Given the description of an element on the screen output the (x, y) to click on. 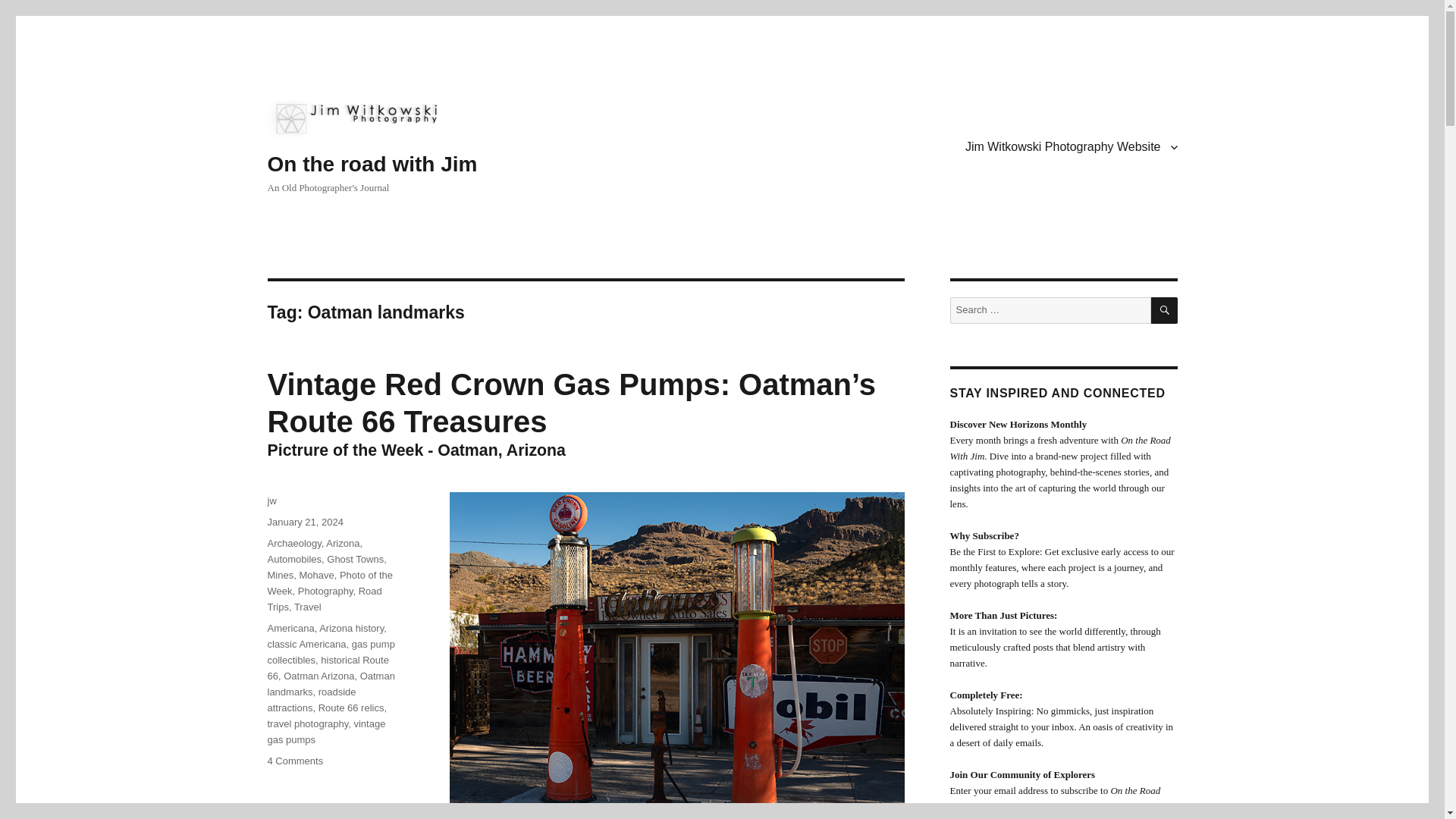
vintage gas pumps (325, 731)
Americana (290, 627)
SEARCH (1164, 310)
Road Trips (323, 598)
Jim Witkowski Photography Website (1071, 146)
Arizona history (351, 627)
Oatman Arizona (318, 675)
Mohave (315, 574)
Mines (280, 574)
Photo of the Week (329, 583)
roadside attractions (310, 699)
gas pump collectibles (330, 651)
travel photography (306, 723)
January 21, 2024 (304, 521)
